Given the description of an element on the screen output the (x, y) to click on. 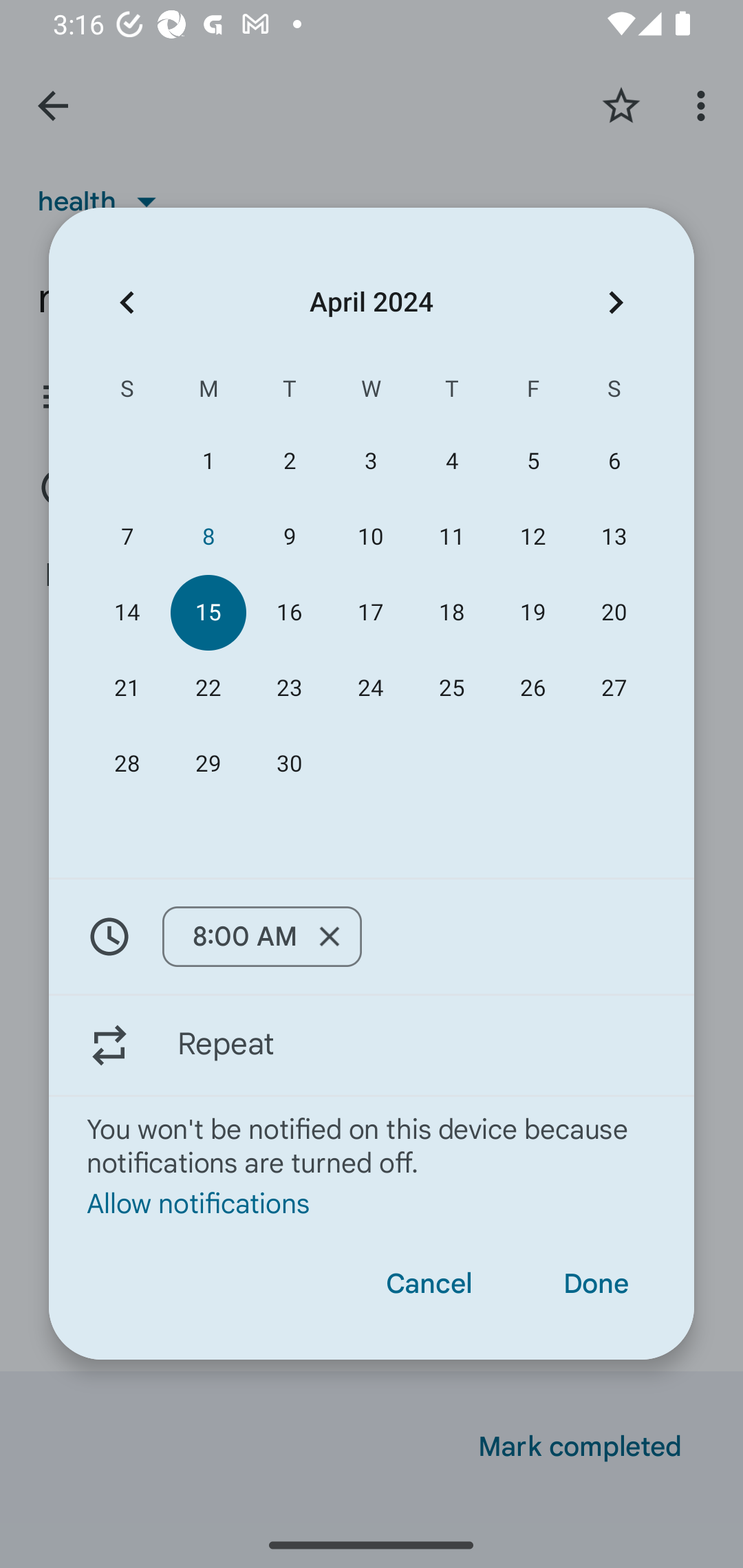
Previous month (126, 302)
Next month (615, 302)
1 01 April 2024 (207, 460)
2 02 April 2024 (288, 460)
3 03 April 2024 (370, 460)
4 04 April 2024 (451, 460)
5 05 April 2024 (532, 460)
6 06 April 2024 (613, 460)
7 07 April 2024 (126, 536)
8 08 April 2024 (207, 536)
9 09 April 2024 (288, 536)
10 10 April 2024 (370, 536)
11 11 April 2024 (451, 536)
12 12 April 2024 (532, 536)
13 13 April 2024 (613, 536)
14 14 April 2024 (126, 612)
15 15 April 2024 (207, 612)
16 16 April 2024 (288, 612)
17 17 April 2024 (370, 612)
18 18 April 2024 (451, 612)
19 19 April 2024 (532, 612)
20 20 April 2024 (613, 612)
21 21 April 2024 (126, 687)
22 22 April 2024 (207, 687)
23 23 April 2024 (288, 687)
24 24 April 2024 (370, 687)
25 25 April 2024 (451, 687)
26 26 April 2024 (532, 687)
27 27 April 2024 (613, 687)
28 28 April 2024 (126, 763)
29 29 April 2024 (207, 763)
30 30 April 2024 (288, 763)
8:00 AM Remove 8:00 AM (371, 936)
8:00 AM Remove 8:00 AM (261, 935)
Repeat (371, 1044)
Allow notifications (371, 1202)
Cancel (429, 1283)
Done (595, 1283)
